Given the description of an element on the screen output the (x, y) to click on. 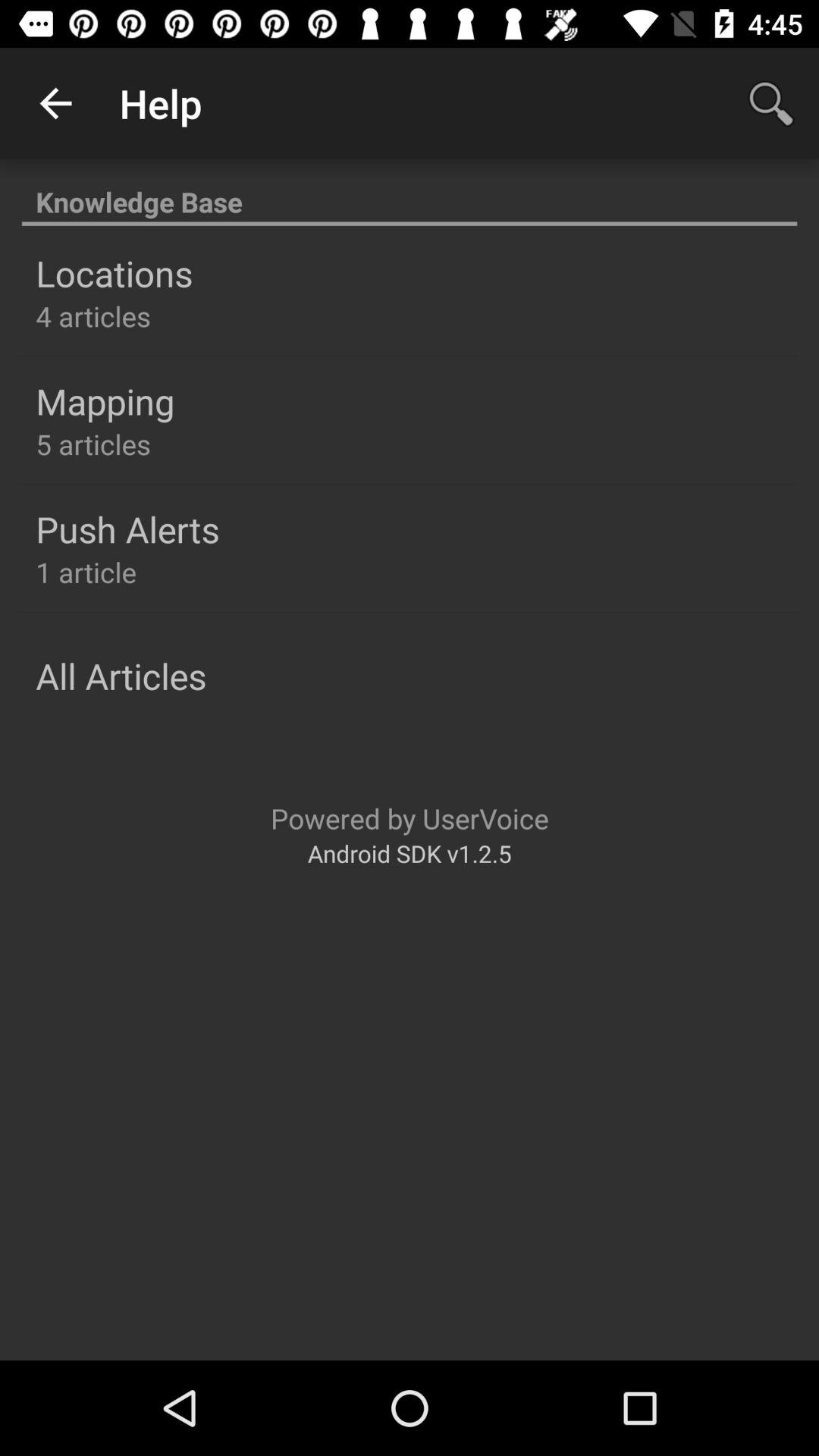
tap the 4 articles icon (92, 315)
